Given the description of an element on the screen output the (x, y) to click on. 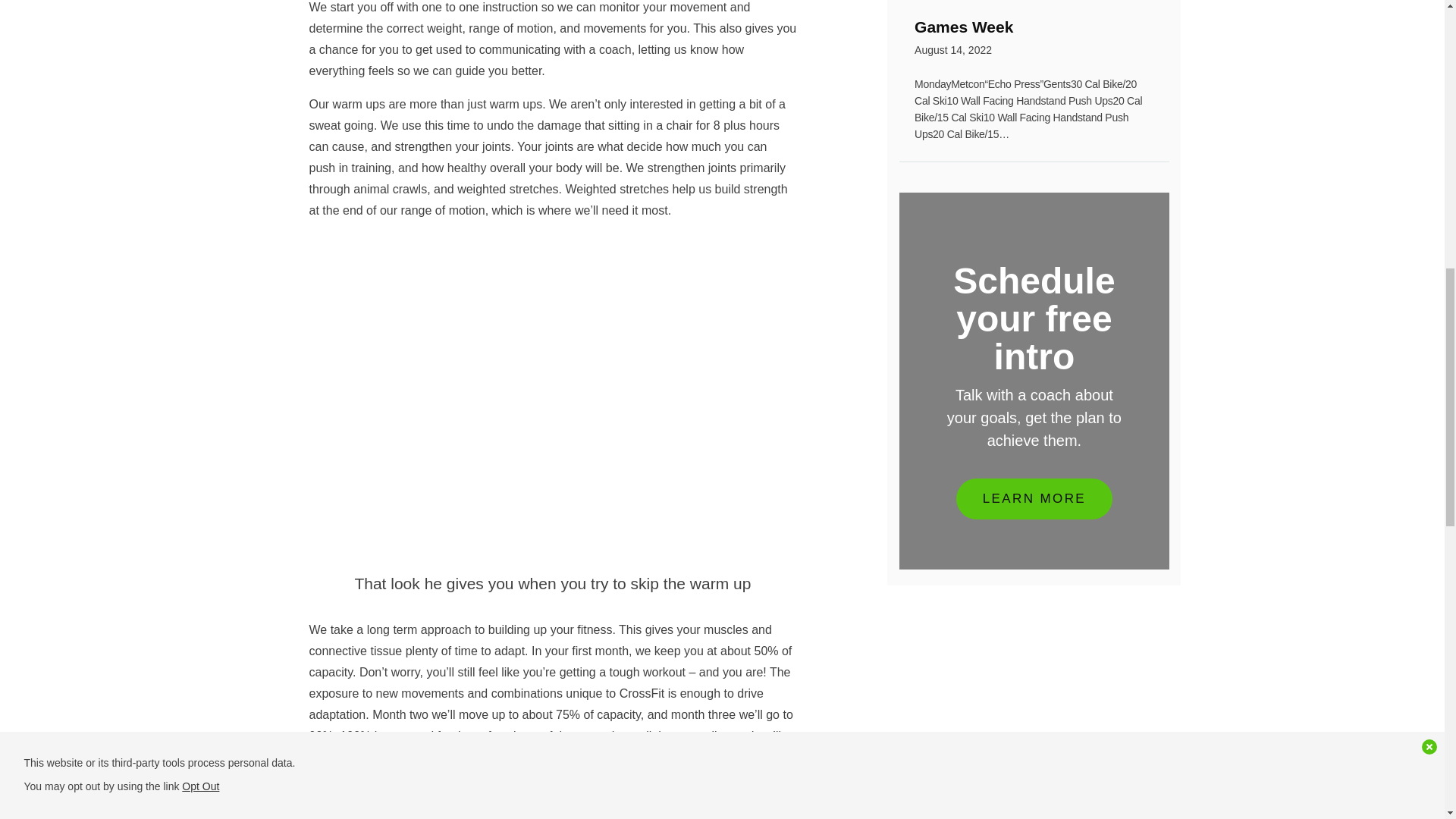
LEARN MORE (1034, 40)
